Given the description of an element on the screen output the (x, y) to click on. 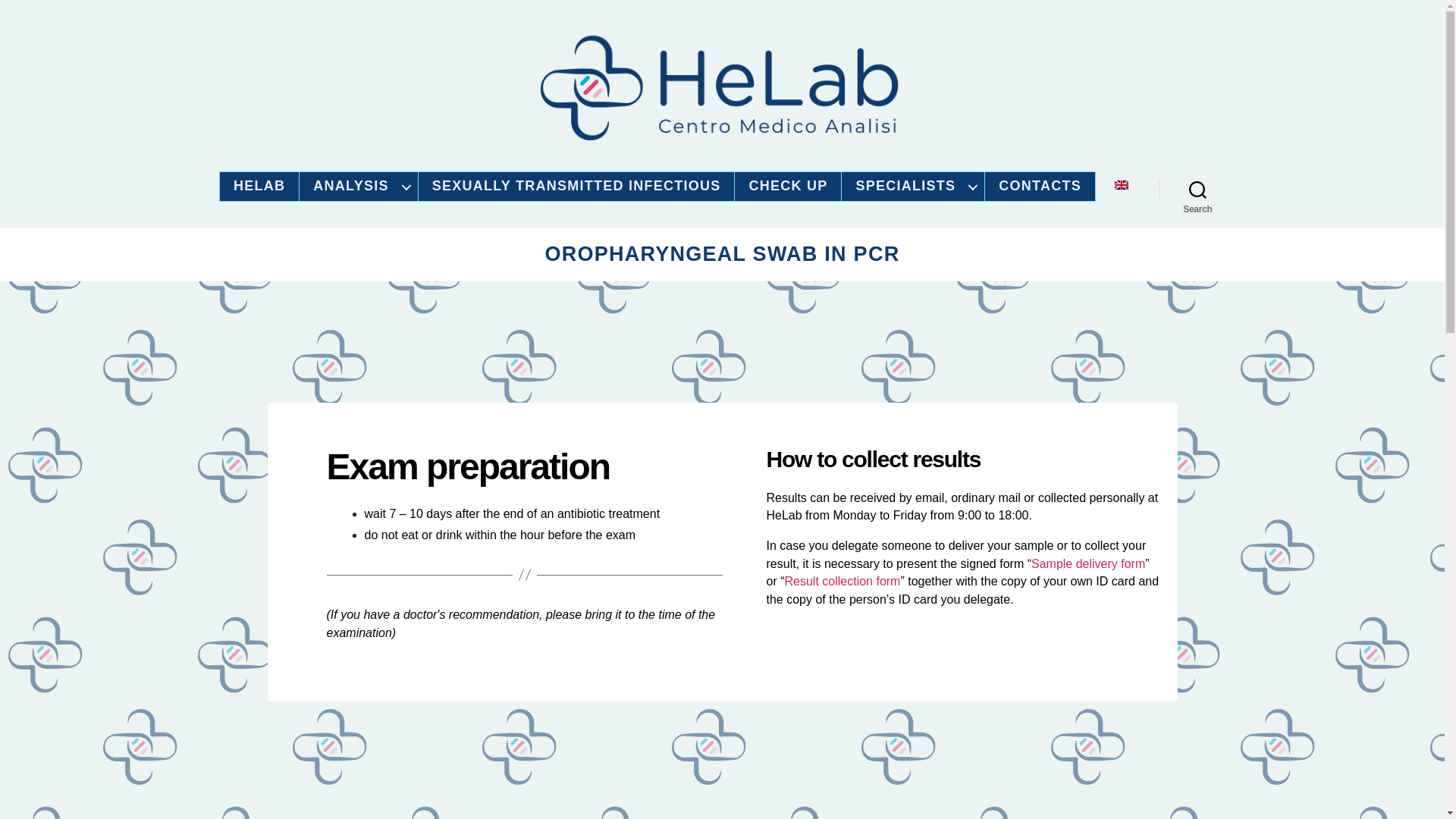
Search (1197, 189)
SPECIALISTS (913, 186)
HELAB (258, 186)
CHECK UP (787, 186)
SEXUALLY TRANSMITTED INFECTIOUS (576, 186)
CONTACTS (1039, 186)
ANALYSIS (358, 186)
